Given the description of an element on the screen output the (x, y) to click on. 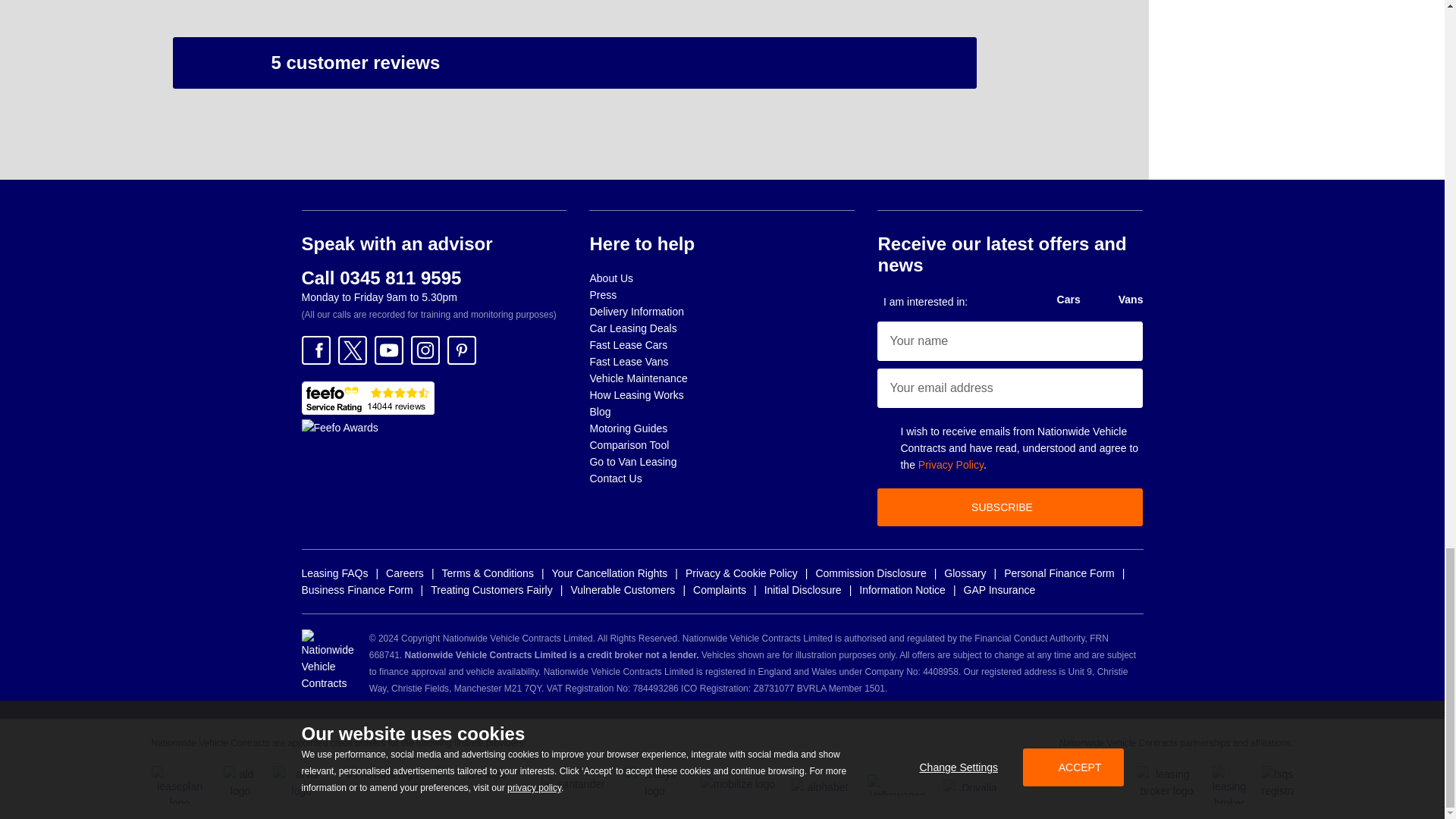
Feefo Platinum Trusted Service Award 2024 (339, 427)
Privacy Policy (951, 464)
Our customer Feefo rating (367, 397)
